Given the description of an element on the screen output the (x, y) to click on. 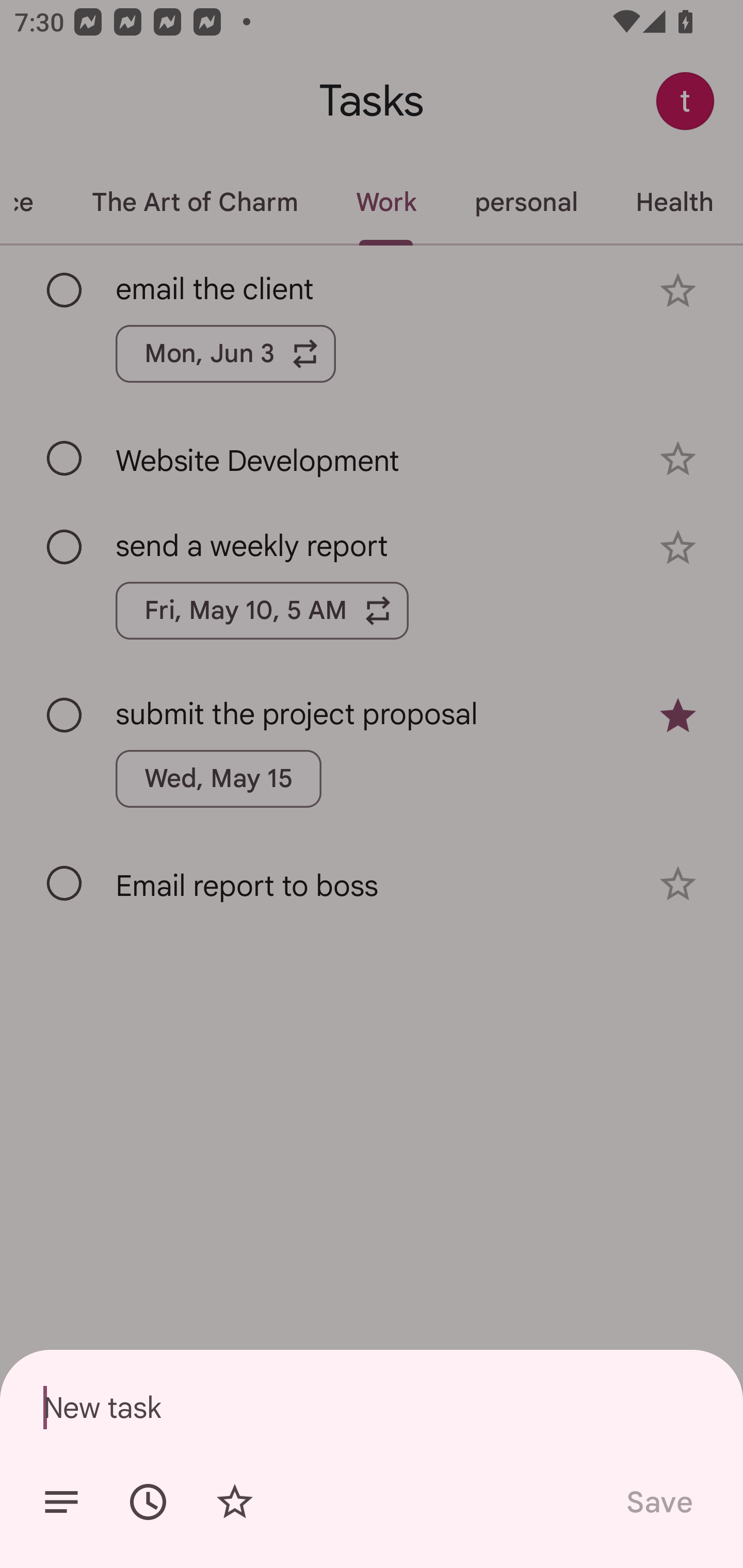
New task (371, 1407)
Save (659, 1501)
Add details (60, 1501)
Set date/time (147, 1501)
Add star (234, 1501)
